Given the description of an element on the screen output the (x, y) to click on. 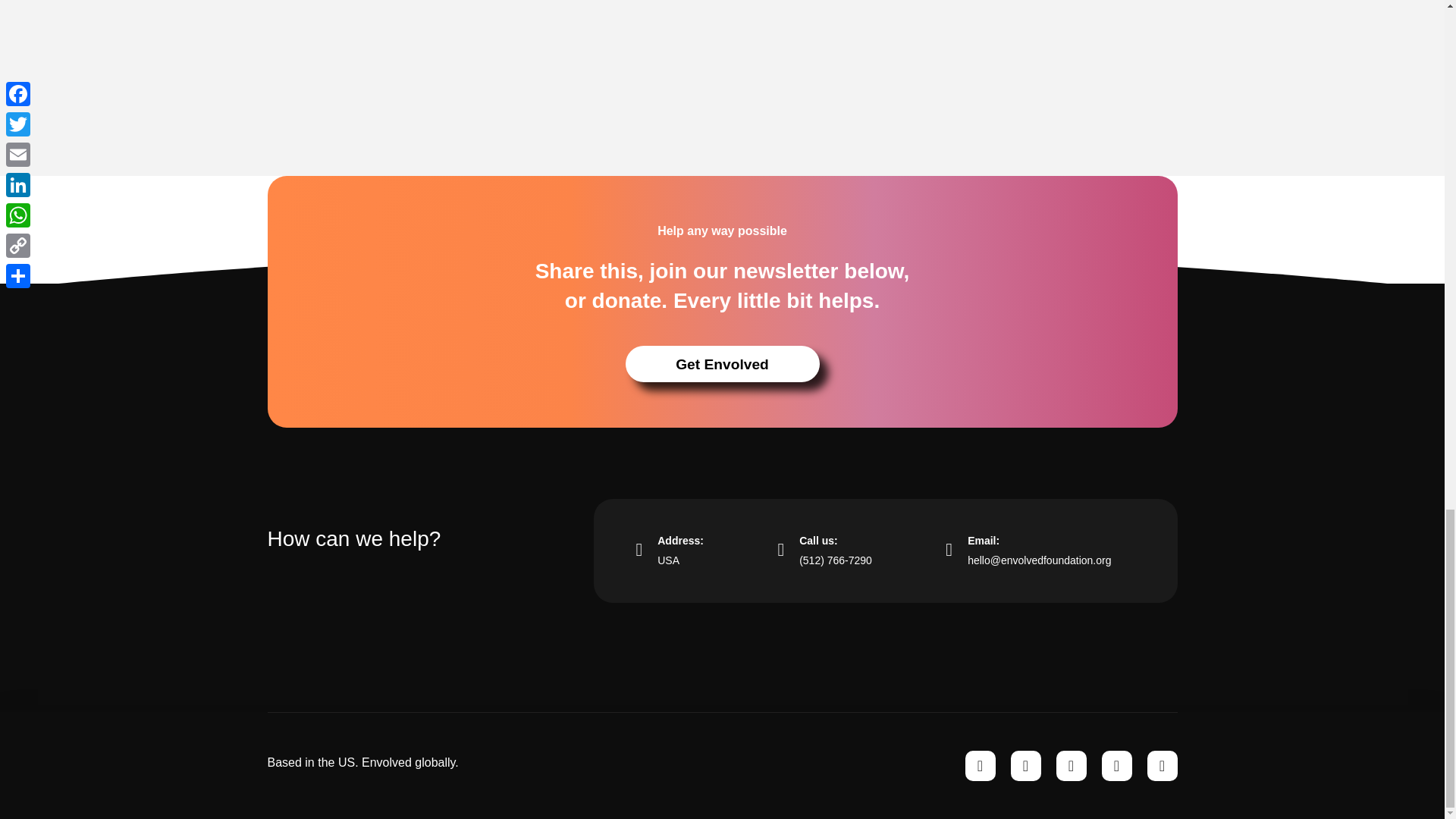
mp2 (418, 89)
mp2 (668, 550)
